Given the description of an element on the screen output the (x, y) to click on. 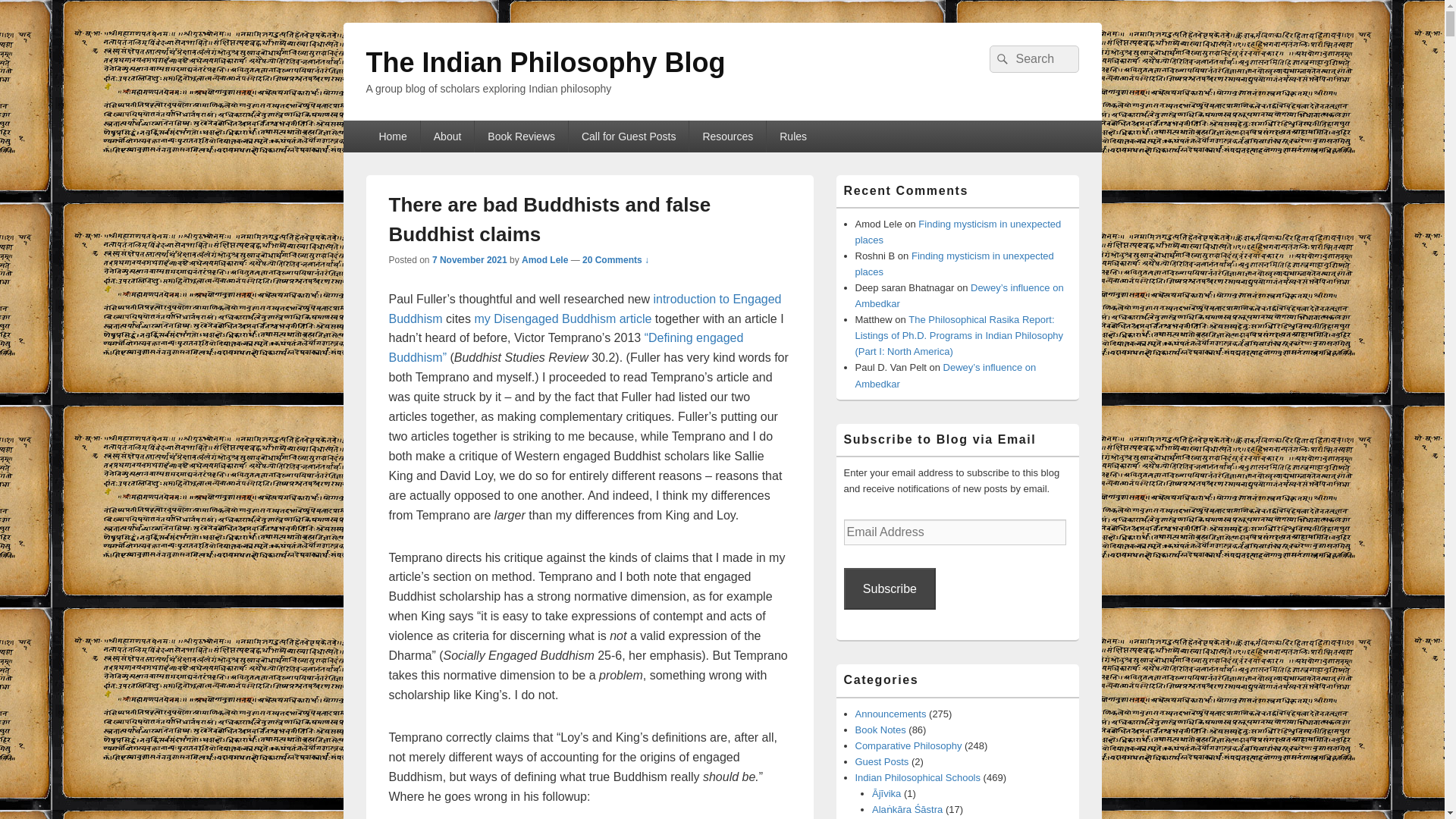
The Indian Philosophy Blog (545, 61)
7 November 2021 (469, 259)
Book Reviews (520, 136)
About (447, 136)
introduction to Engaged Buddhism (584, 308)
View all posts by Amod Lele (544, 259)
Amod Lele (544, 259)
Home (392, 136)
Call for Guest Posts (628, 136)
Rules (793, 136)
my Disengaged Buddhism article (562, 318)
10:00 pm (469, 259)
Search for: (1033, 58)
Resources (726, 136)
